Given the description of an element on the screen output the (x, y) to click on. 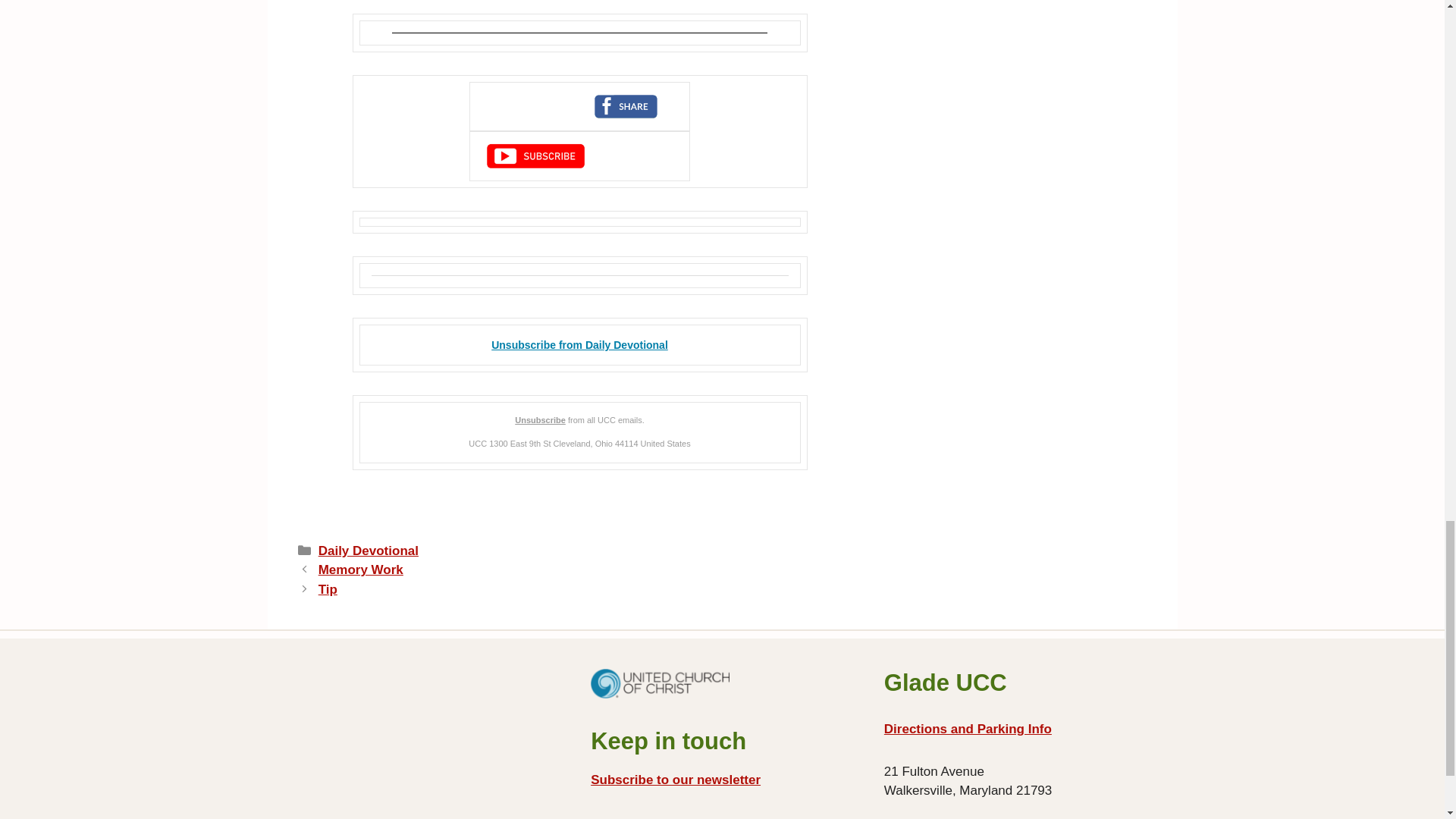
Daily Devotional (368, 550)
Unsubscribe from Daily Devotional (580, 345)
Unsubscribe (540, 420)
